Given the description of an element on the screen output the (x, y) to click on. 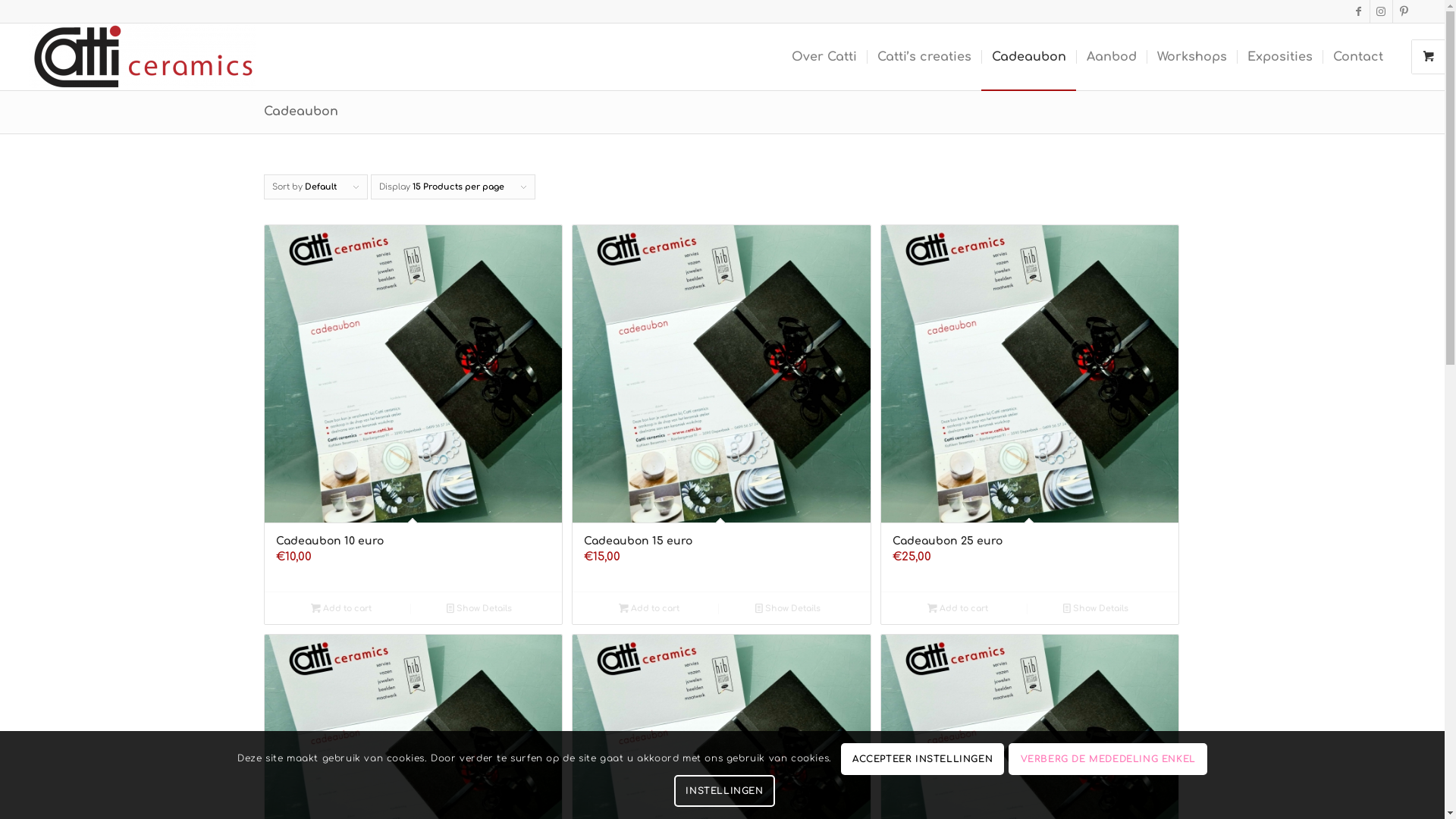
Show Details Element type: text (787, 607)
Pinterest Element type: hover (1404, 11)
Cadeaubon Element type: text (1028, 56)
ACCEPTEER INSTELLINGEN Element type: text (922, 759)
Aanbod Element type: text (1111, 56)
Over Catti Element type: text (823, 56)
Add to cart Element type: text (957, 607)
Exposities Element type: text (1279, 56)
Facebook Element type: hover (1358, 11)
VERBERG DE MEDEDELING ENKEL Element type: text (1107, 759)
Show Details Element type: text (479, 607)
Add to cart Element type: text (649, 607)
INSTELLINGEN Element type: text (724, 790)
Add to cart Element type: text (340, 607)
Workshops Element type: text (1191, 56)
Contact Element type: text (1357, 56)
Show Details Element type: text (1095, 607)
Instagram Element type: hover (1381, 11)
